Given the description of an element on the screen output the (x, y) to click on. 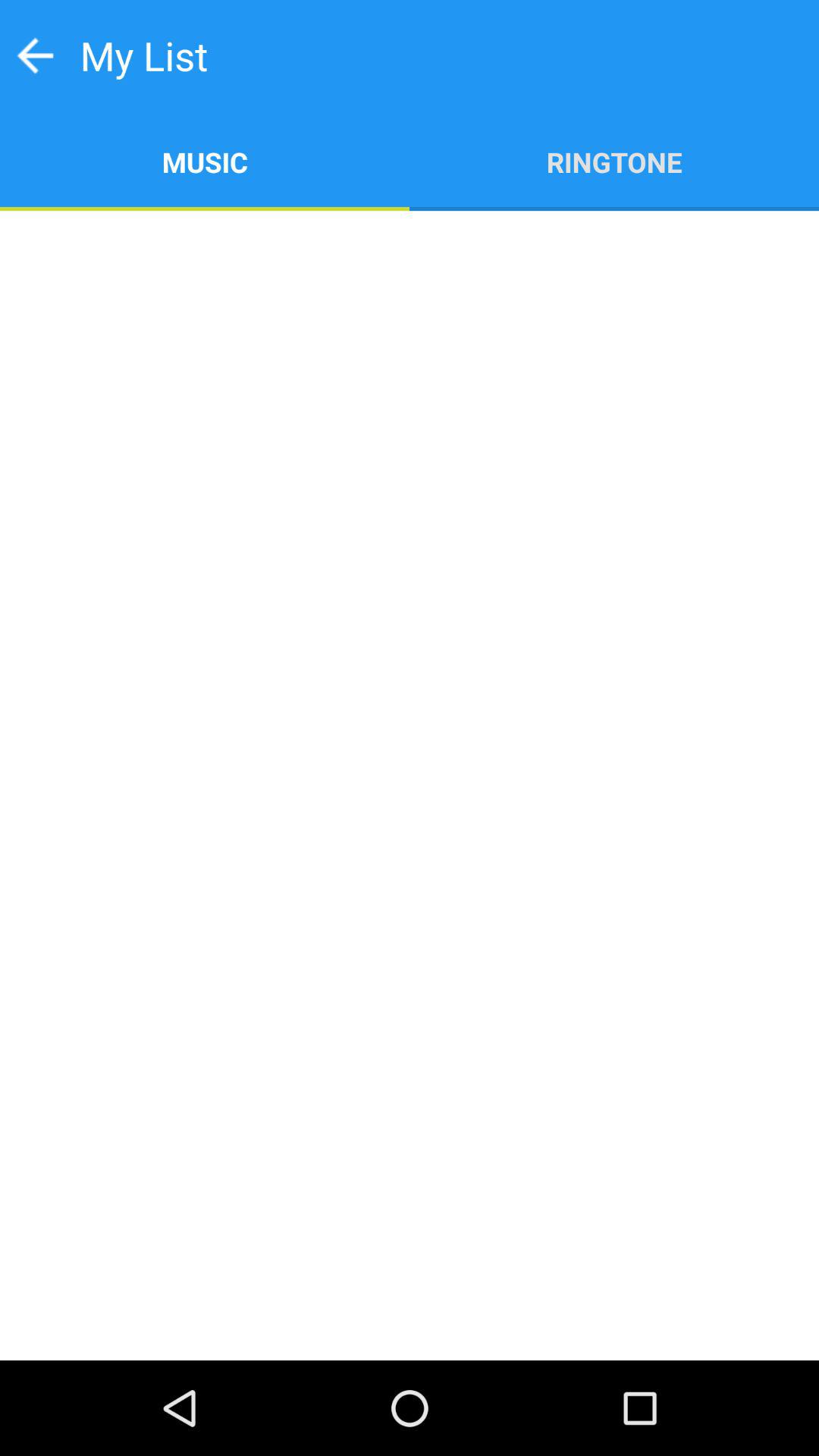
tap the item next to the ringtone (204, 161)
